Given the description of an element on the screen output the (x, y) to click on. 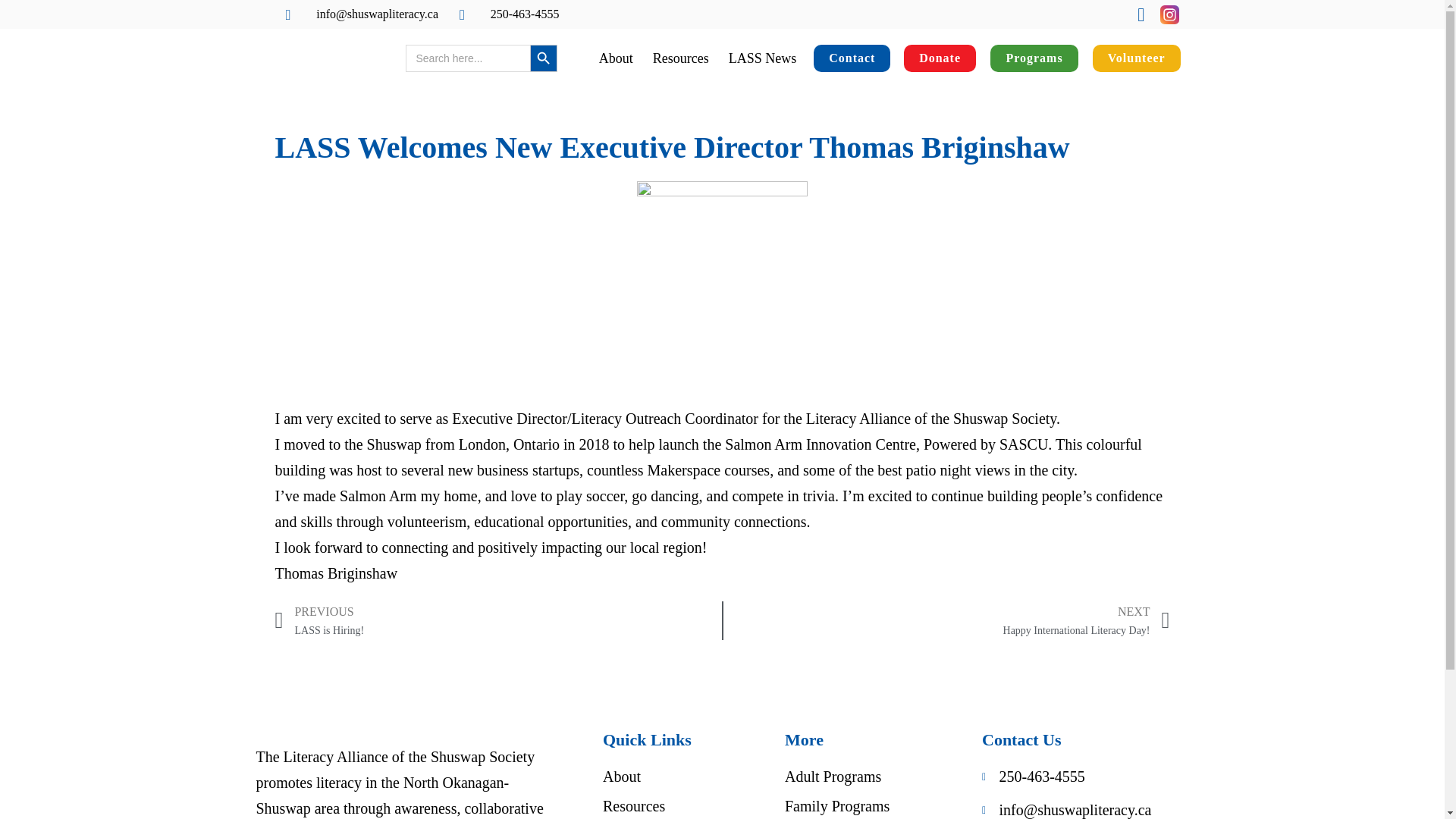
Programs (1033, 34)
LASS News (946, 620)
Resources (497, 620)
About (762, 18)
Donate (681, 16)
Contact (616, 15)
Volunteer (939, 32)
